Given the description of an element on the screen output the (x, y) to click on. 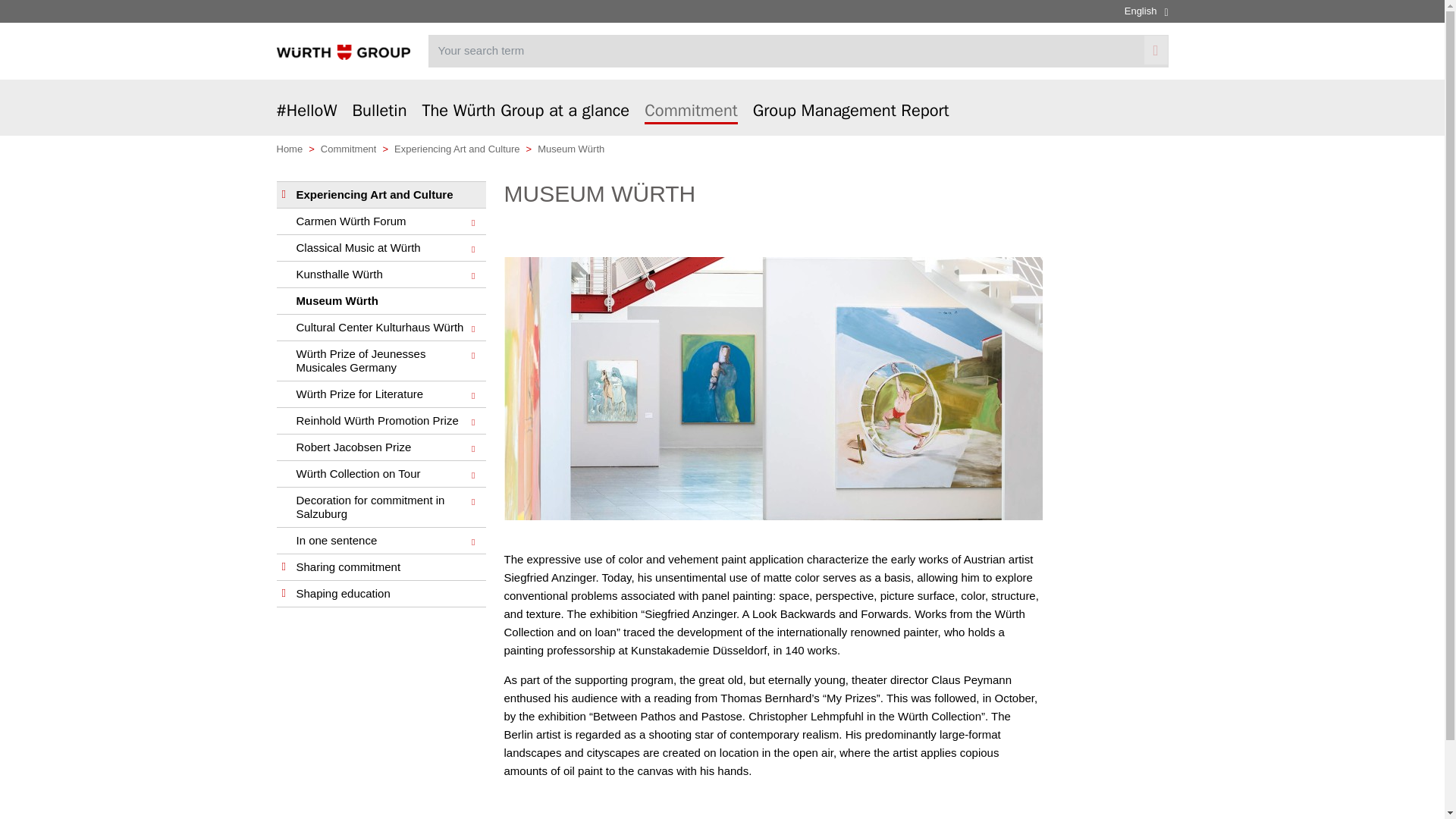
Decoration for commitment in Salzuburg (380, 507)
In one sentence (380, 540)
Bulletin (379, 119)
Shaping education (380, 593)
Experiencing Art and Culture (380, 194)
Commitment (691, 112)
Sharing commitment  (380, 567)
English (1146, 10)
Group Management Report (850, 119)
Robert Jacobsen Prize (380, 447)
